Given the description of an element on the screen output the (x, y) to click on. 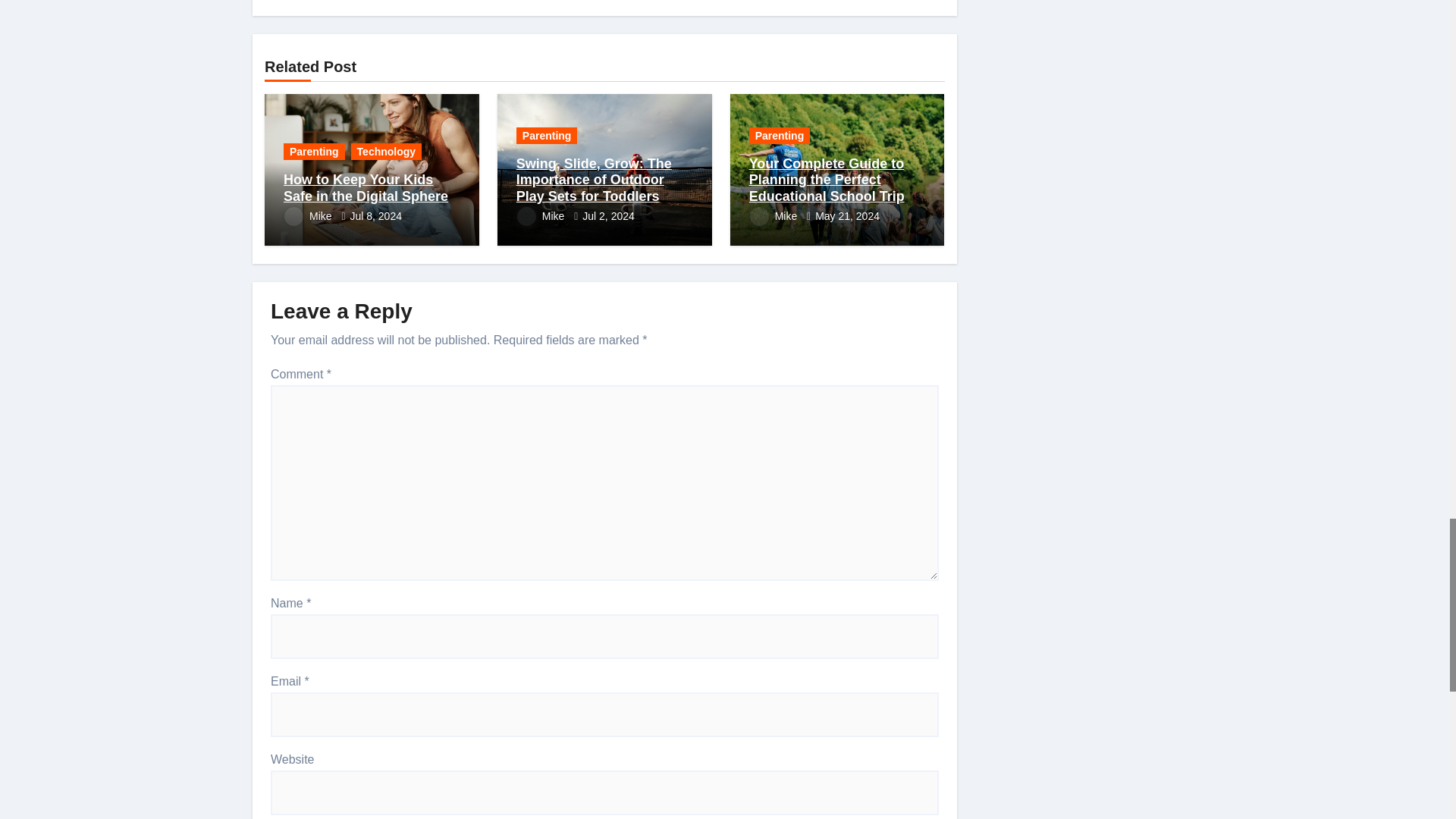
How to Keep Your Kids Safe in the Digital Sphere (365, 187)
Mike (308, 215)
Parenting (314, 151)
Jul 8, 2024 (375, 215)
Technology (386, 151)
